Given the description of an element on the screen output the (x, y) to click on. 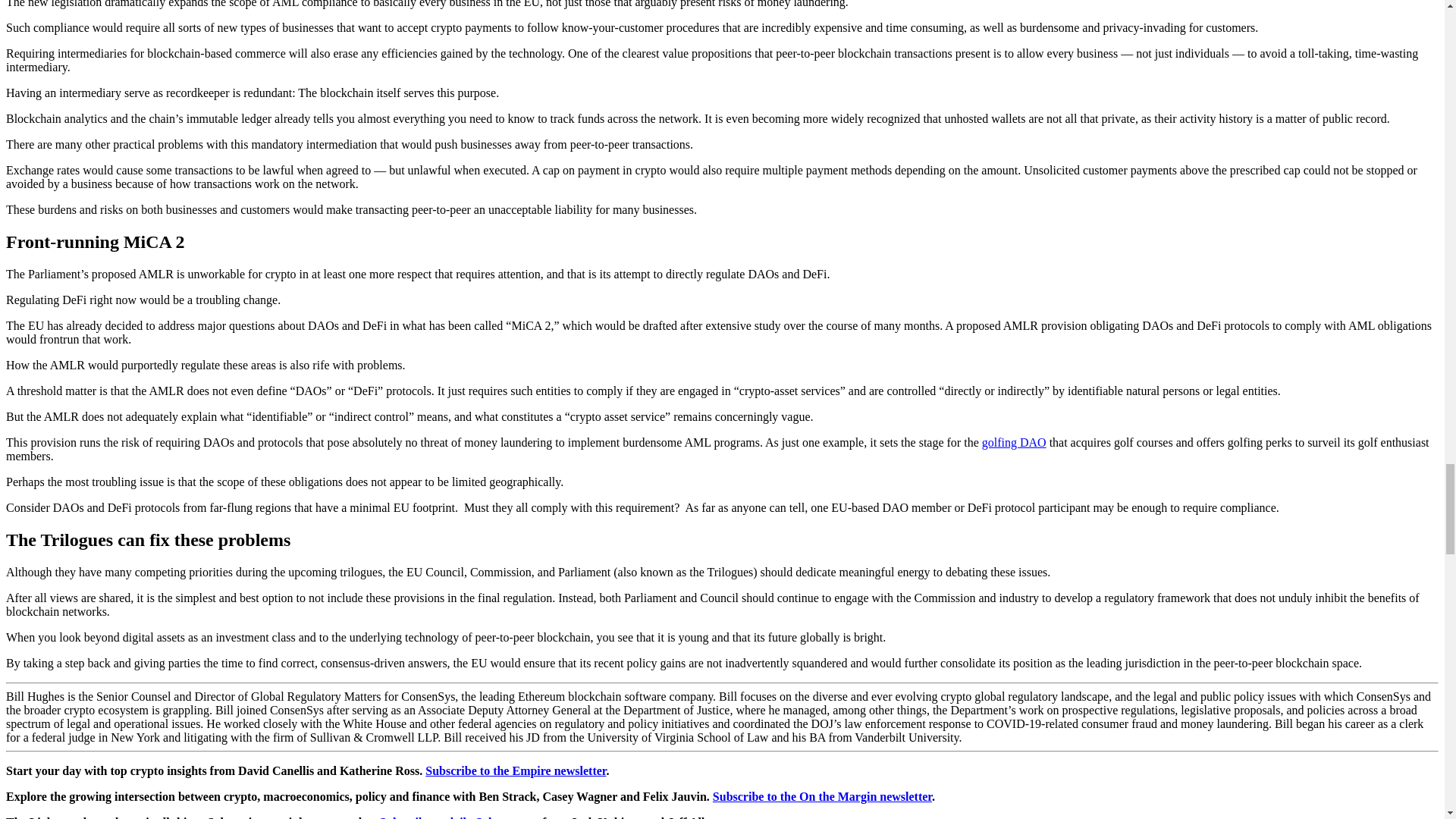
golfing DAO (1013, 441)
Subscribe to daily Solana news (458, 817)
Subscribe to the Empire newsletter (515, 770)
Subscribe to the On the Margin newsletter (822, 796)
